Given the description of an element on the screen output the (x, y) to click on. 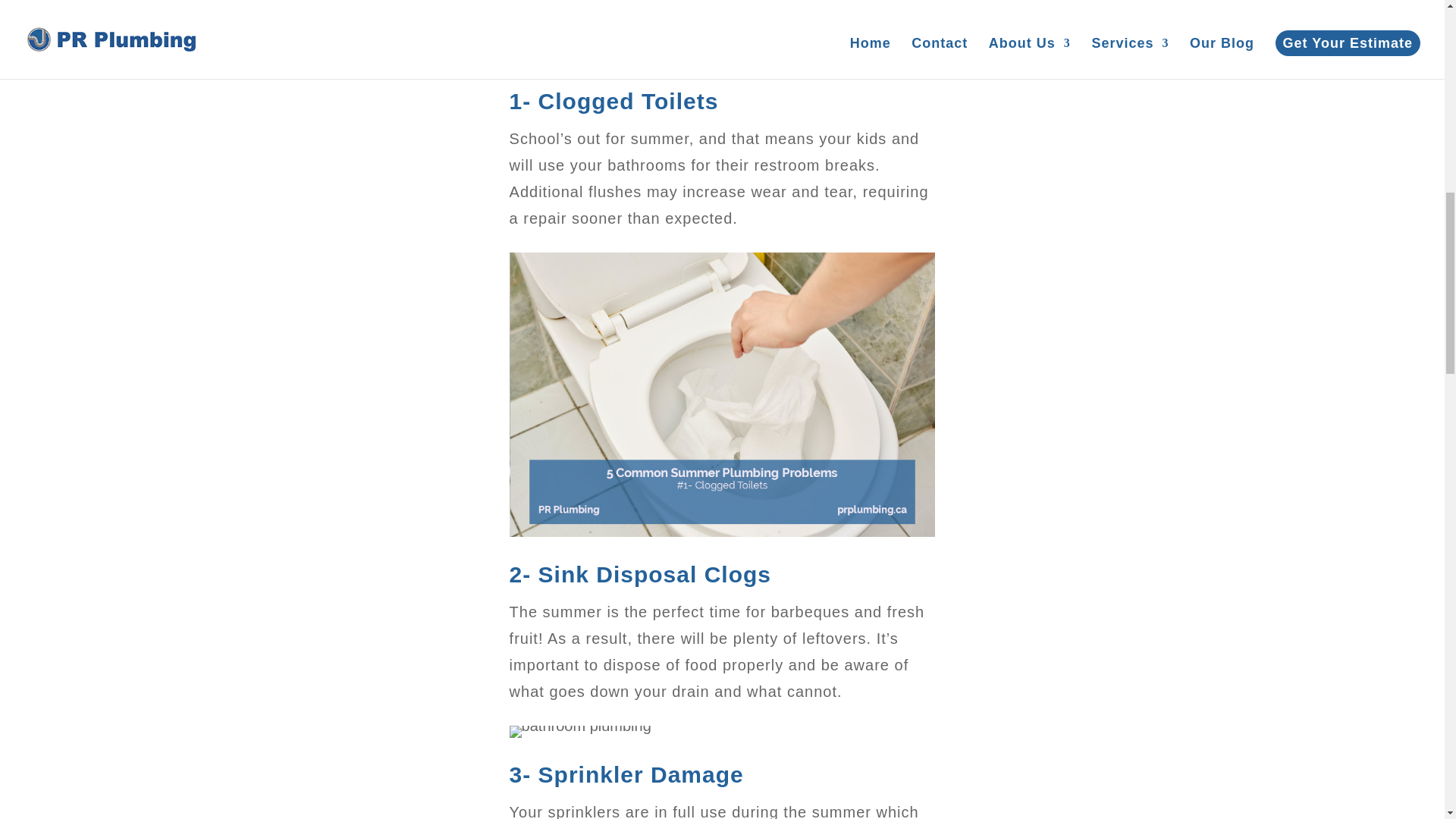
toilet (722, 394)
